Given the description of an element on the screen output the (x, y) to click on. 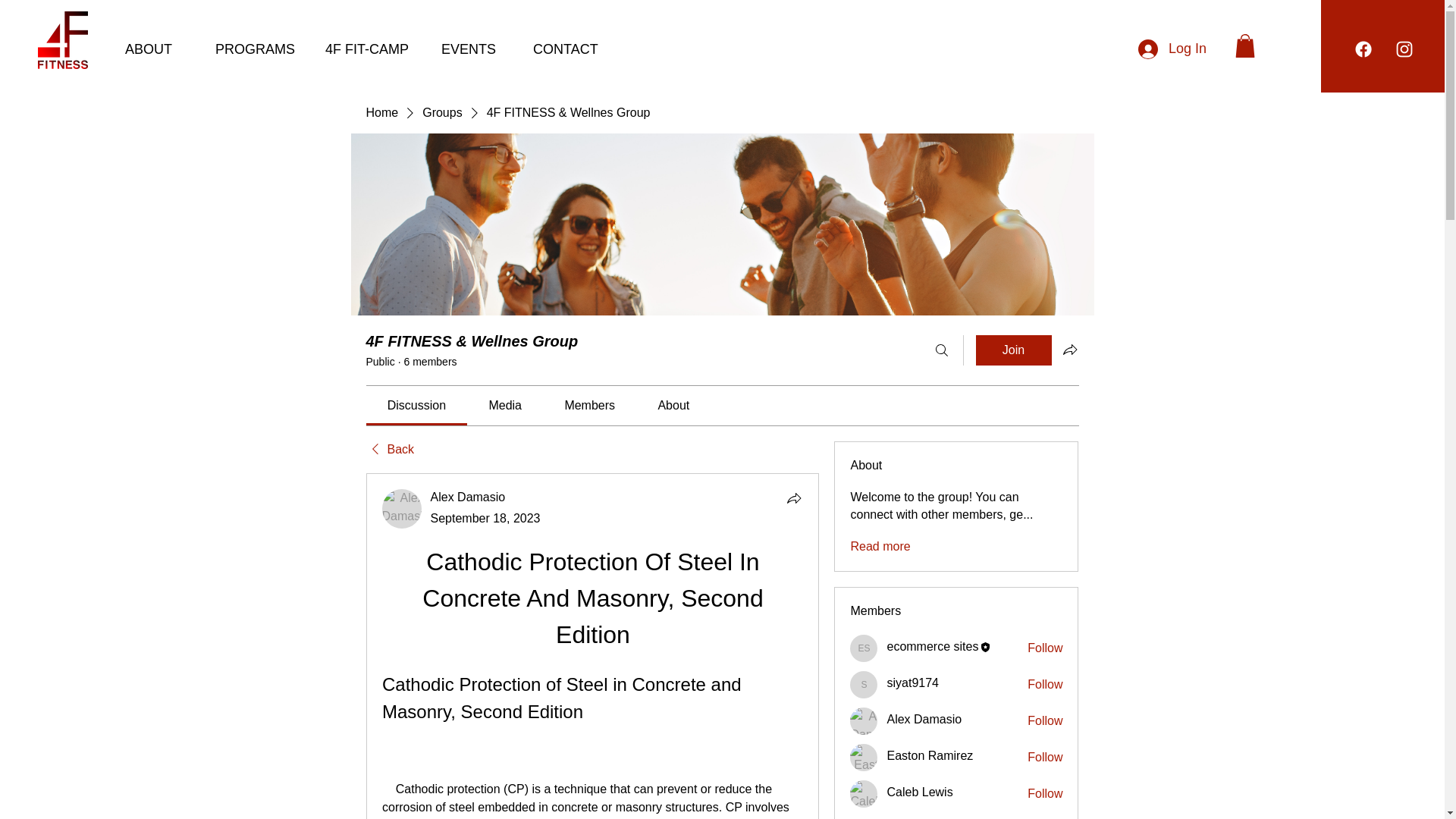
Home (381, 112)
4F FIT-CAMP (371, 48)
Caleb Lewis (863, 793)
EVENTS (475, 48)
siyat9174 (912, 682)
Alex Damasio (401, 508)
Alex Damasio (467, 496)
Back (389, 449)
Caleb Lewis (919, 791)
September 18, 2023 (485, 517)
